Given the description of an element on the screen output the (x, y) to click on. 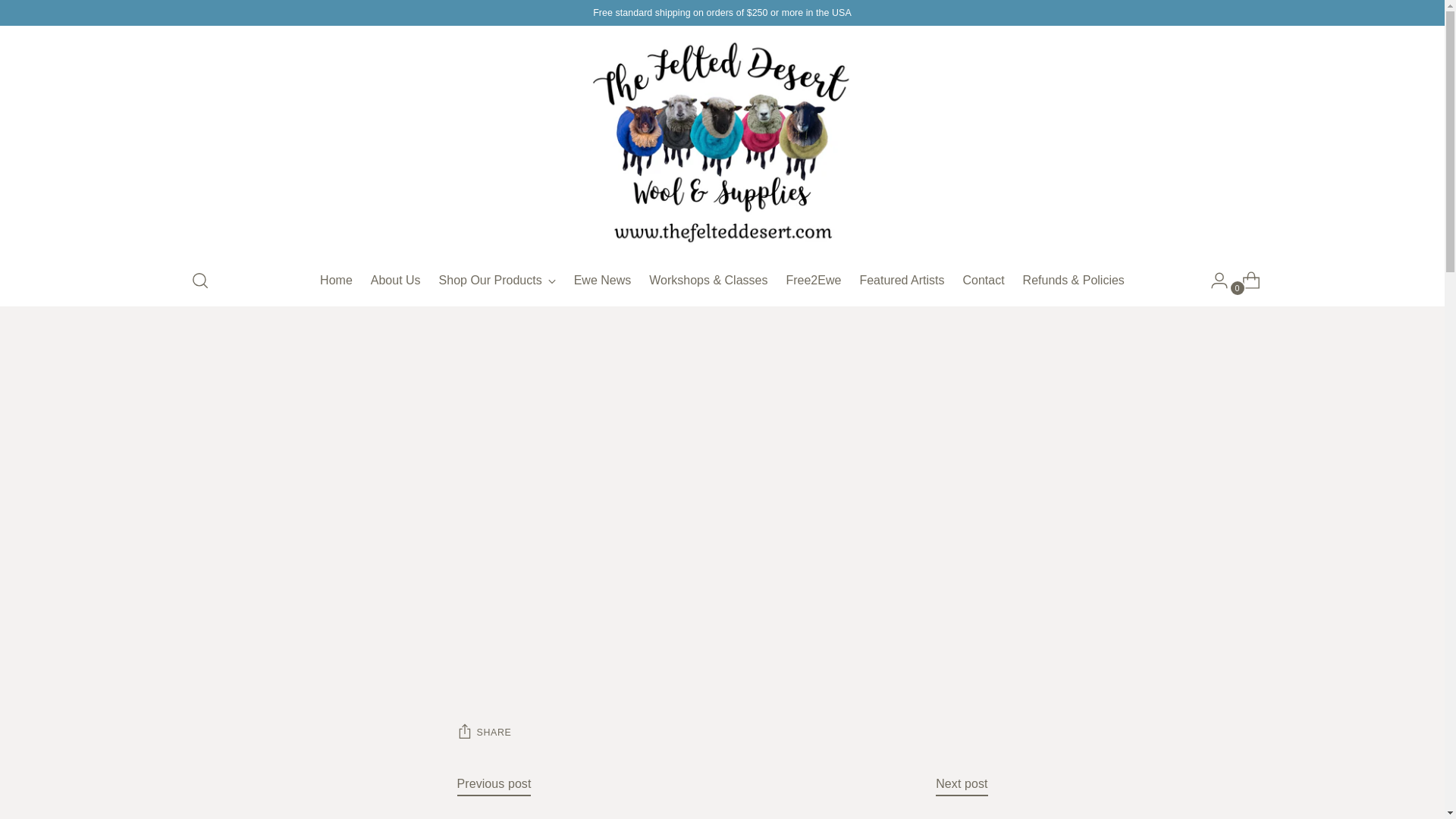
Home (336, 280)
Free2Ewe (813, 280)
Contact (983, 280)
0 (1245, 280)
Ewe News (602, 280)
Featured Artists (901, 280)
About Us (395, 280)
Shop Our Products (497, 280)
